Given the description of an element on the screen output the (x, y) to click on. 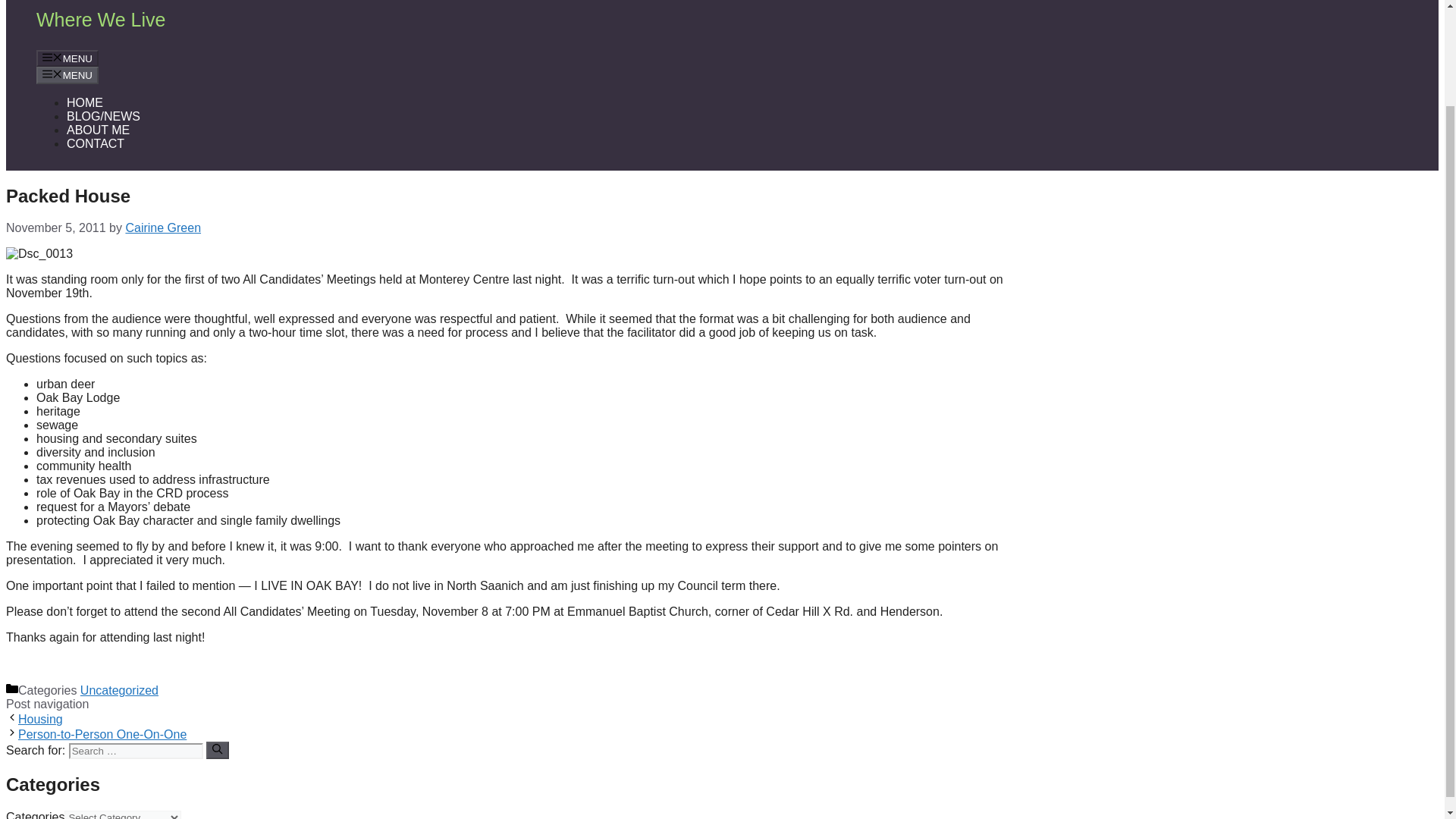
MENU (67, 74)
View all posts by Cairine Green (162, 227)
Uncategorized (119, 689)
ABOUT ME (97, 129)
Previous (39, 718)
Person-to-Person One-On-One (101, 734)
Next (101, 734)
MENU (67, 57)
Search for: (135, 750)
CONTACT (94, 143)
HOME (84, 102)
Cairine Green (162, 227)
Housing (39, 718)
